Given the description of an element on the screen output the (x, y) to click on. 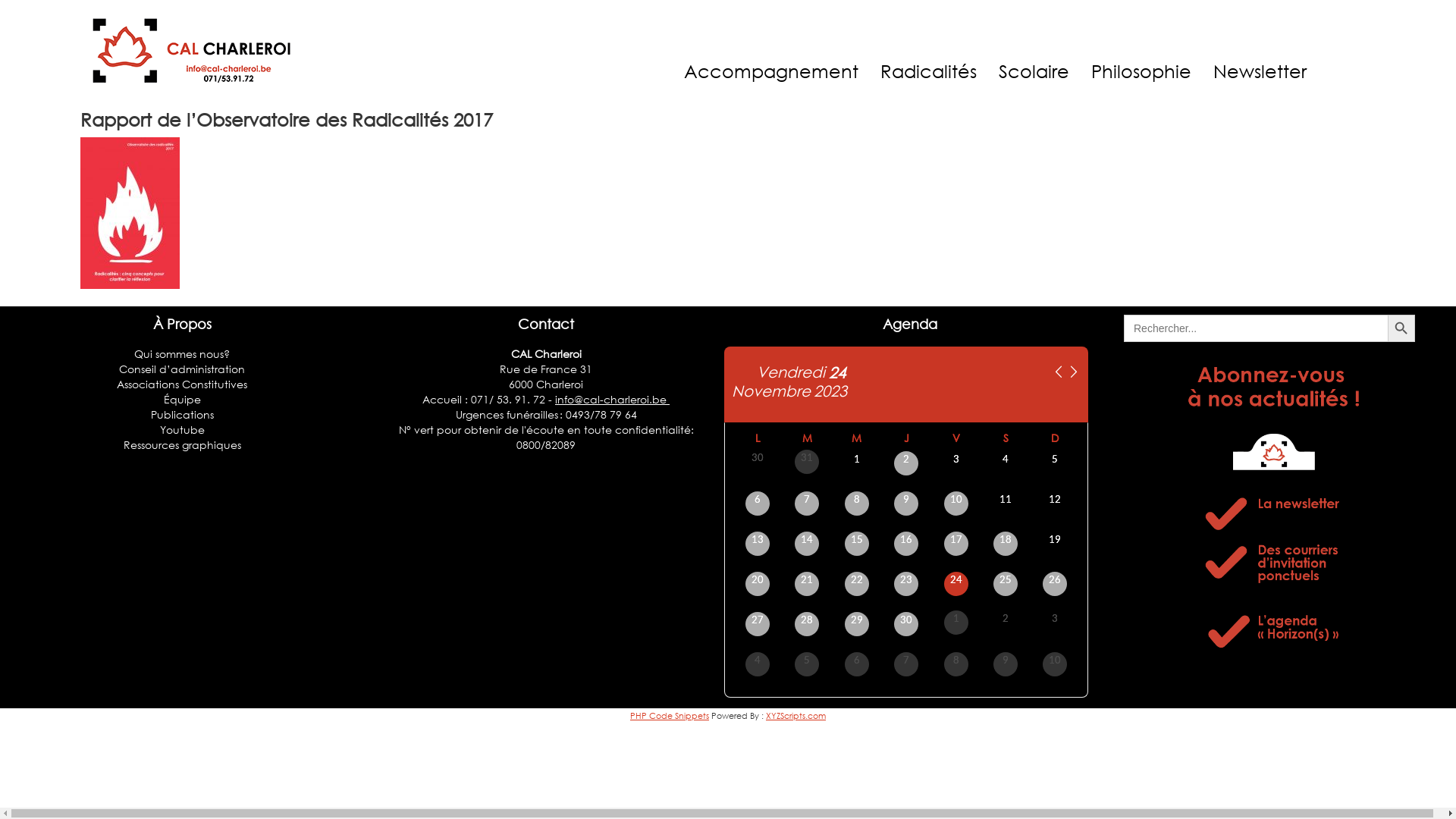
Associations Constitutives Element type: text (181, 383)
Ressources graphiques Element type: text (181, 444)
Scolaire Element type: text (1033, 71)
Accompagnement Element type: text (770, 71)
Publications Element type: text (181, 413)
PHP Code Snippets Element type: text (669, 715)
Newsletter Element type: text (1259, 71)
Youtube Element type: text (181, 429)
Philosophie Element type: text (1140, 71)
Search Button Element type: text (1401, 328)
Qui sommes nous? Element type: text (181, 353)
info@cal-charleroi.be  Element type: text (612, 398)
XYZScripts.com Element type: text (795, 715)
